Given the description of an element on the screen output the (x, y) to click on. 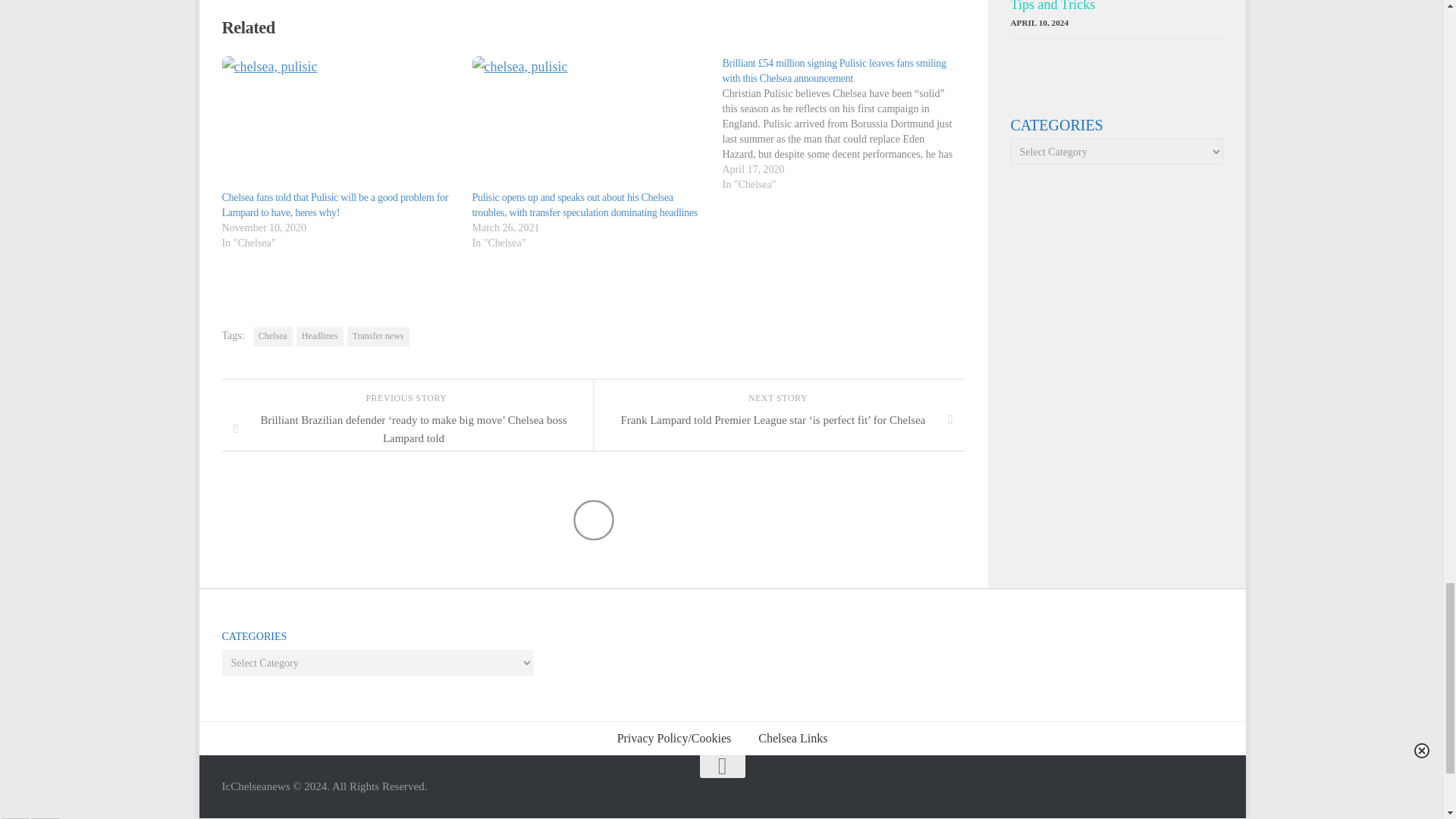
Transfer news (378, 336)
Chelsea (272, 336)
Headlines (320, 336)
